Given the description of an element on the screen output the (x, y) to click on. 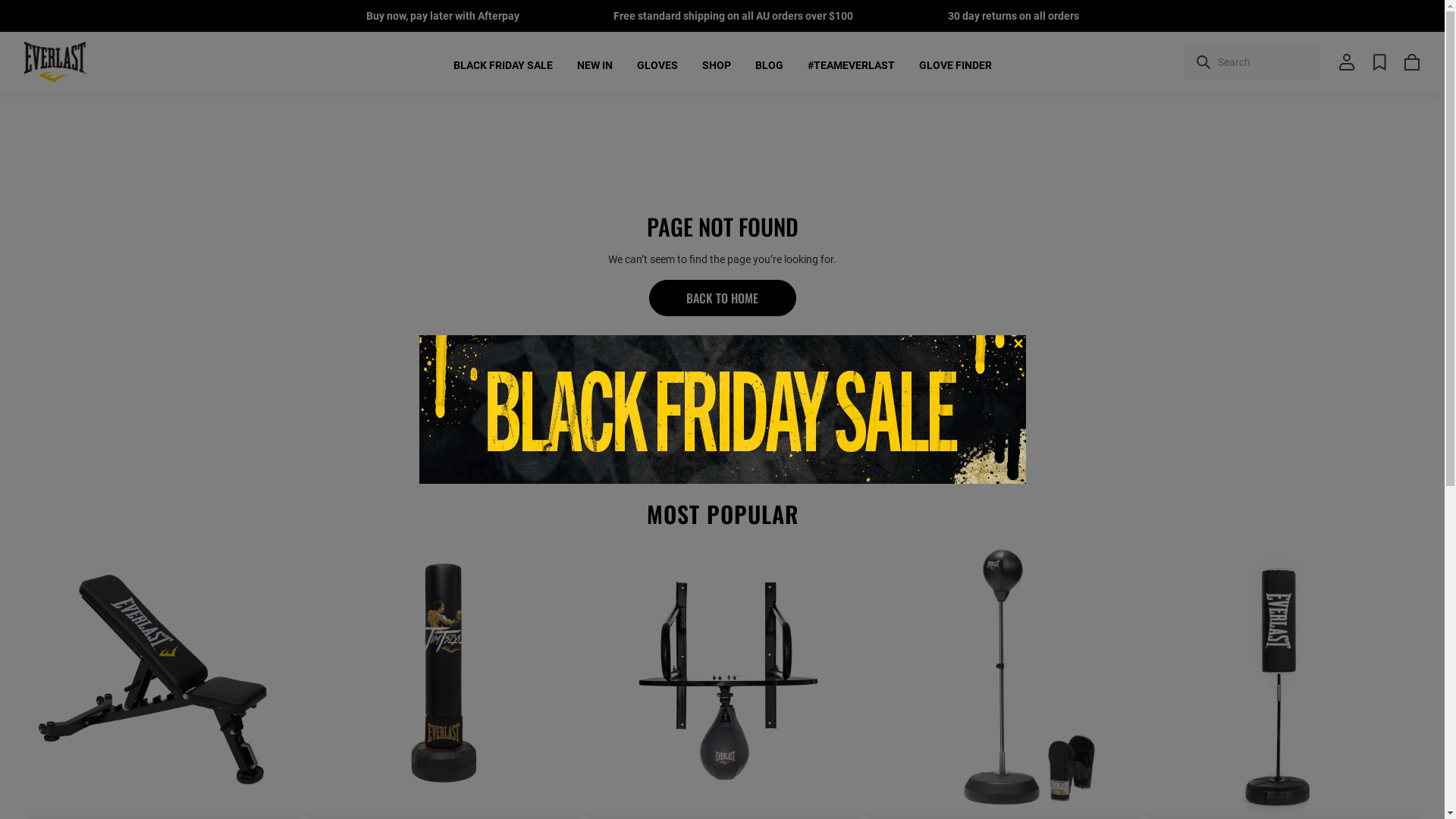
MOST POPULAR Element type: text (721, 513)
Free standard shipping on all AU orders over $100 Element type: text (733, 15)
#TEAMEVERLAST Element type: text (850, 65)
SHOP Element type: text (716, 65)
Everlast Australia Element type: hover (55, 61)
NEW IN Element type: text (593, 65)
BLOG Element type: text (769, 65)
Buy now, pay later with Afterpay Element type: text (441, 15)
BLACK FRIDAY SALE Element type: text (502, 65)
30 day returns on all orders Element type: text (1013, 15)
GLOVES Element type: text (657, 65)
BACK TO HOME Element type: text (722, 297)
GLOVE FINDER Element type: text (955, 65)
